Given the description of an element on the screen output the (x, y) to click on. 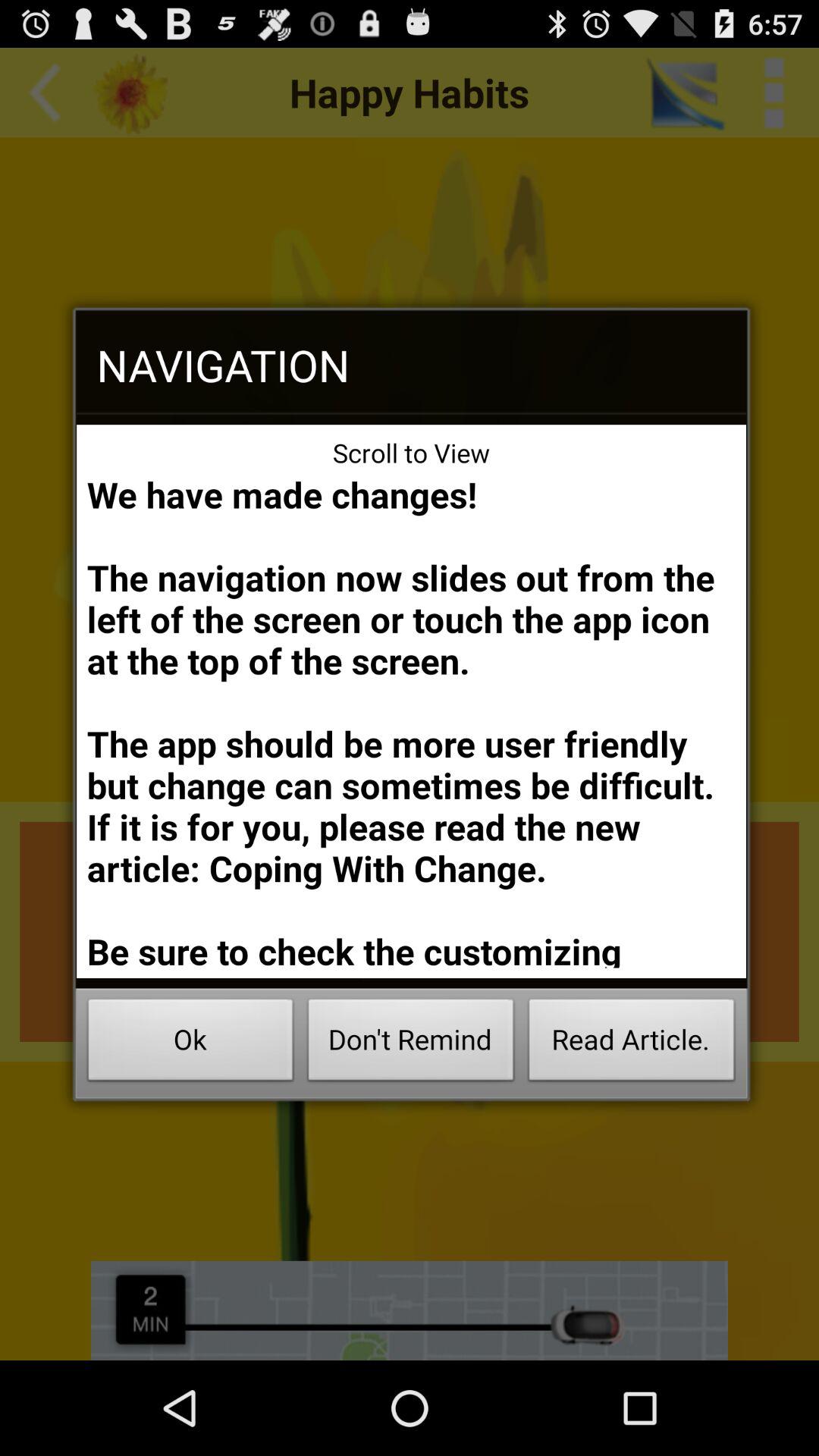
turn off read article. at the bottom right corner (631, 1044)
